Given the description of an element on the screen output the (x, y) to click on. 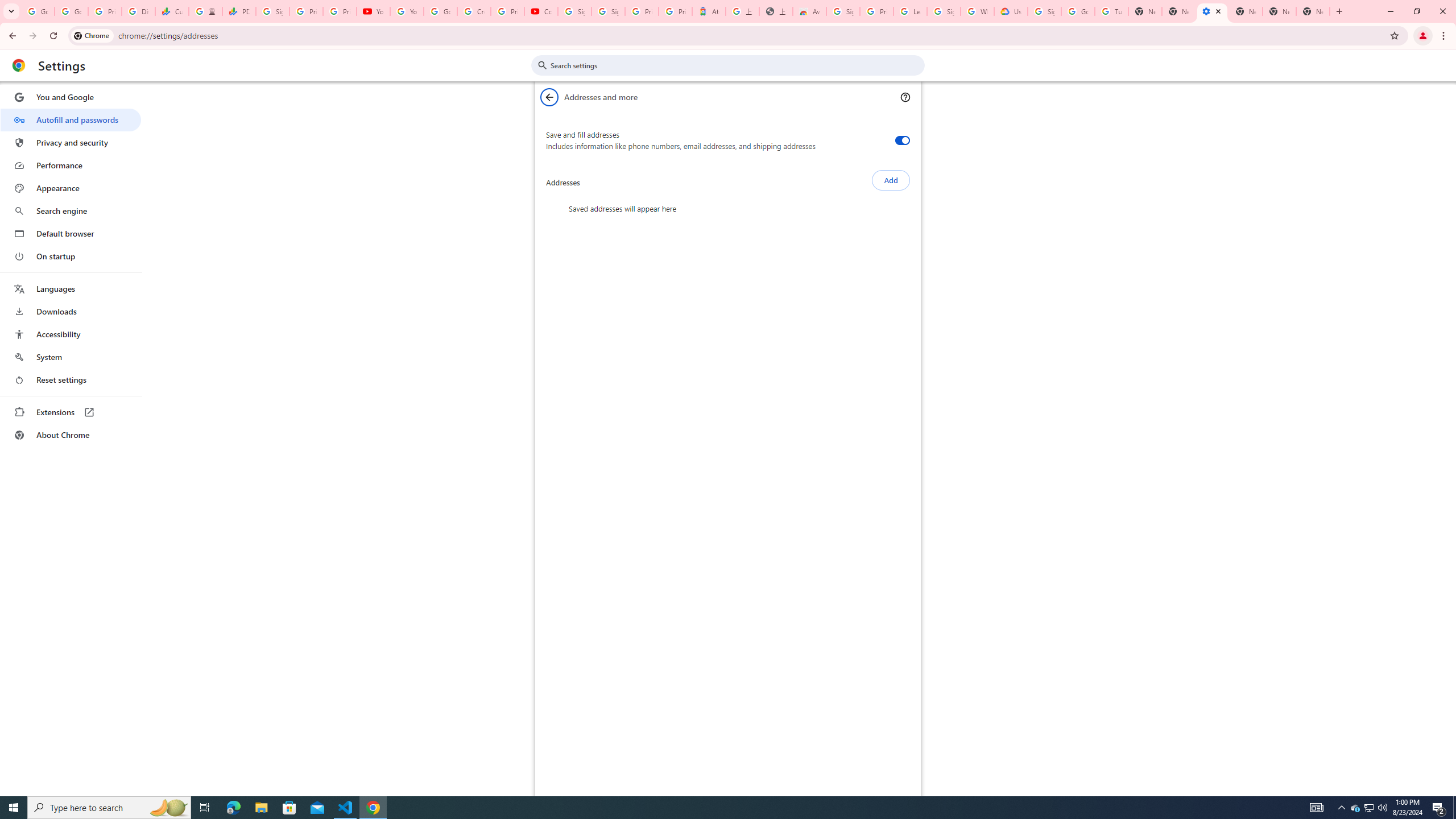
Create your Google Account (474, 11)
Accessibility (70, 333)
Appearance (70, 187)
Who are Google's partners? - Privacy and conditions - Google (976, 11)
Sign in - Google Accounts (574, 11)
Google Account Help (441, 11)
